Given the description of an element on the screen output the (x, y) to click on. 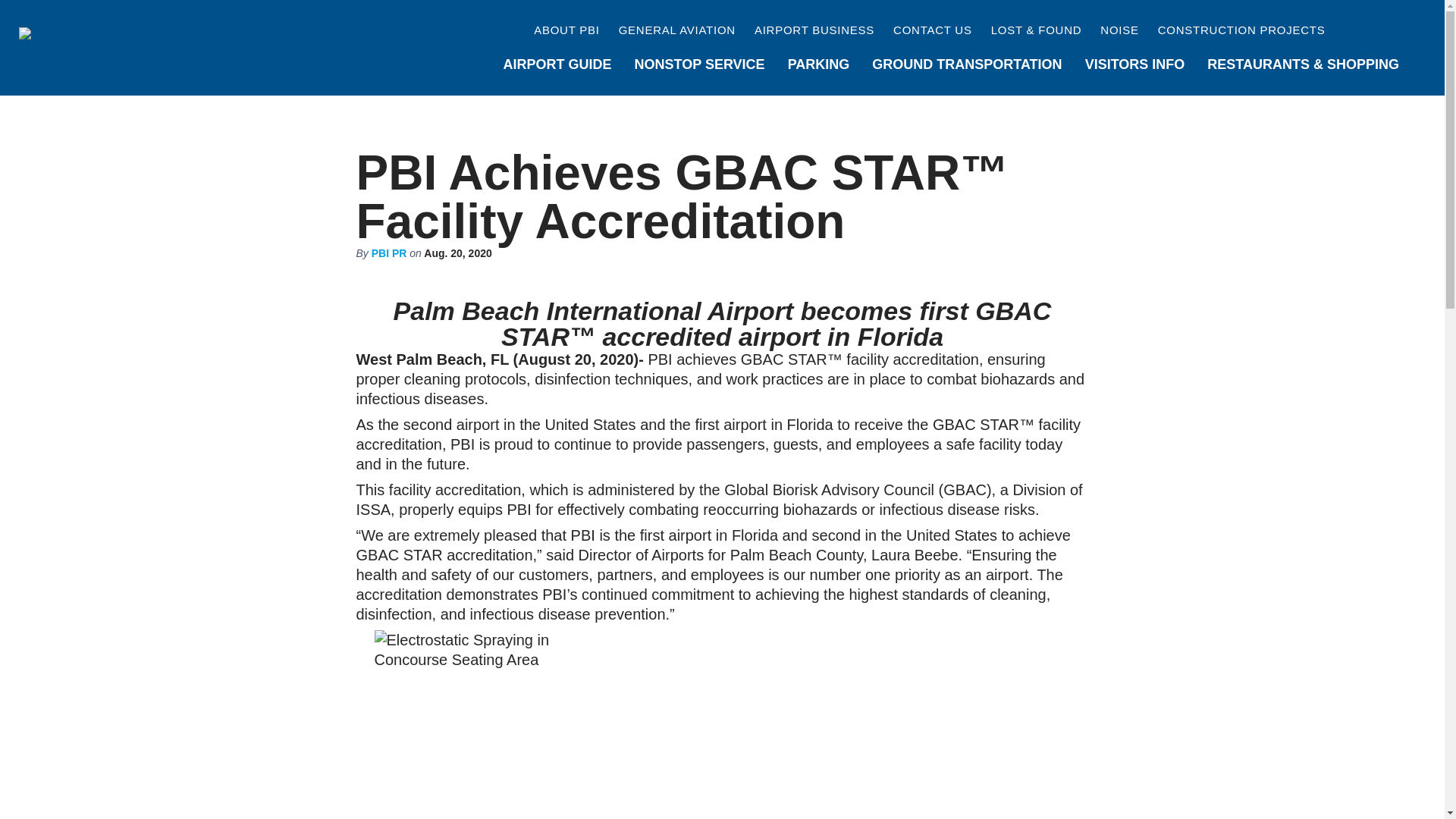
AIRPORT GUIDE (557, 64)
GENERAL AVIATION (676, 30)
ABOUT PBI (567, 30)
AIRPORT BUSINESS (813, 30)
CONSTRUCTION PROJECTS (1241, 30)
NONSTOP SERVICE (699, 64)
CONTACT US (932, 30)
NOISE (1119, 30)
VISITORS INFO (1135, 64)
PARKING (818, 64)
